Given the description of an element on the screen output the (x, y) to click on. 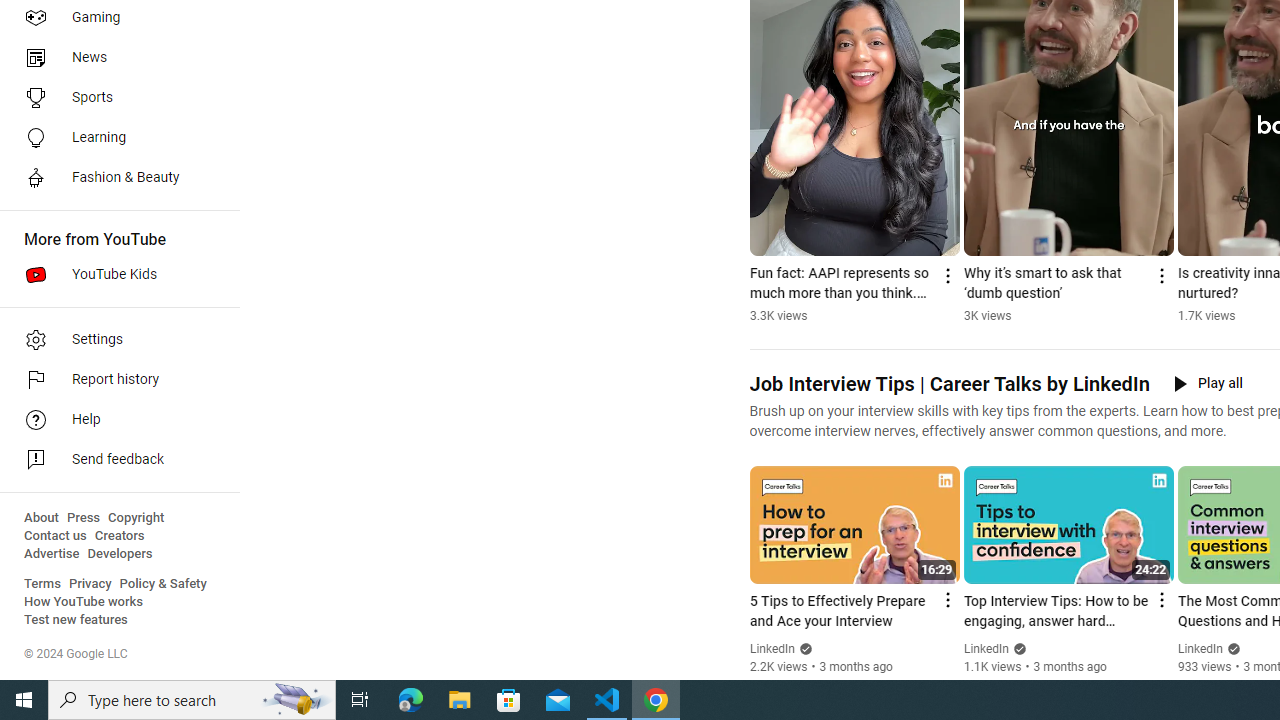
YouTube Kids (113, 274)
